Given the description of an element on the screen output the (x, y) to click on. 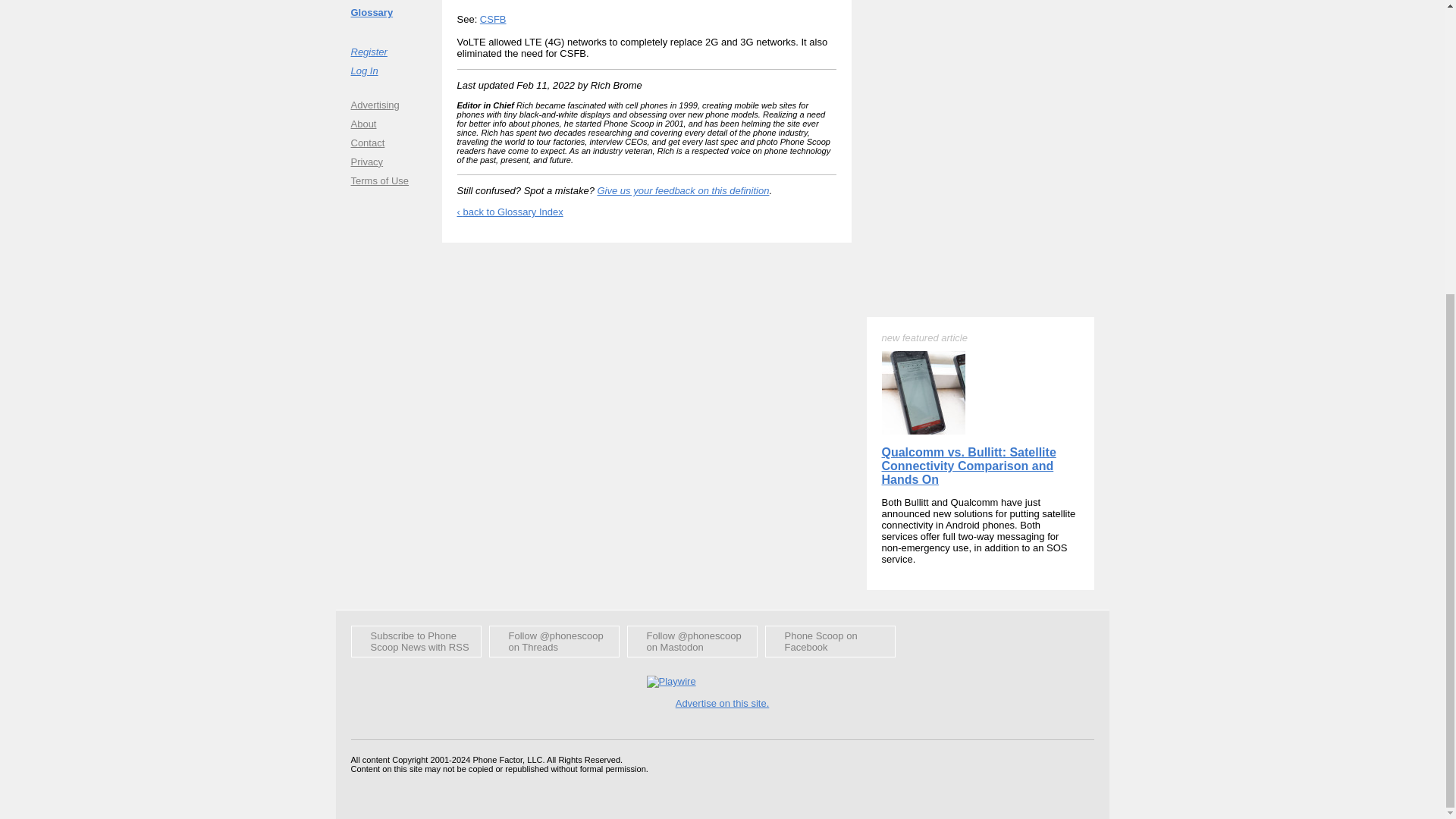
Phone Scoop: News (415, 641)
Terms of Use (387, 180)
Advertise on this site. (722, 703)
Privacy (387, 160)
CSFB (493, 19)
Advertising (387, 104)
About (387, 122)
Log In (387, 69)
Glossary (387, 12)
Contact (387, 142)
